Given the description of an element on the screen output the (x, y) to click on. 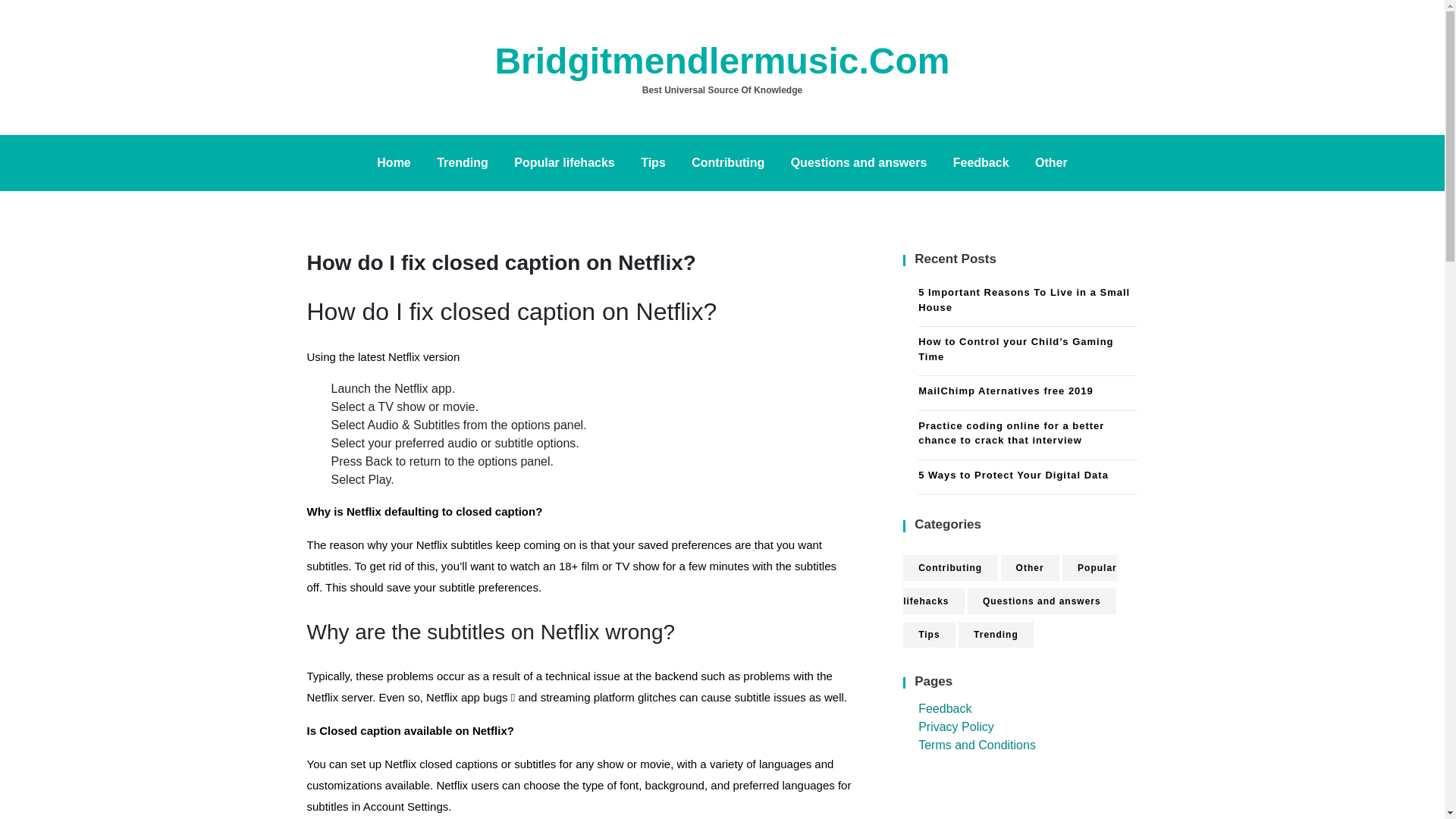
5 Ways to Protect Your Digital Data (1027, 476)
Pinterest (5, 87)
Trending (995, 634)
Questions and answers (1042, 601)
Feedback (944, 707)
Privacy Policy (956, 726)
WhatsApp (5, 100)
Tips (928, 634)
Facebook (5, 81)
